Given the description of an element on the screen output the (x, y) to click on. 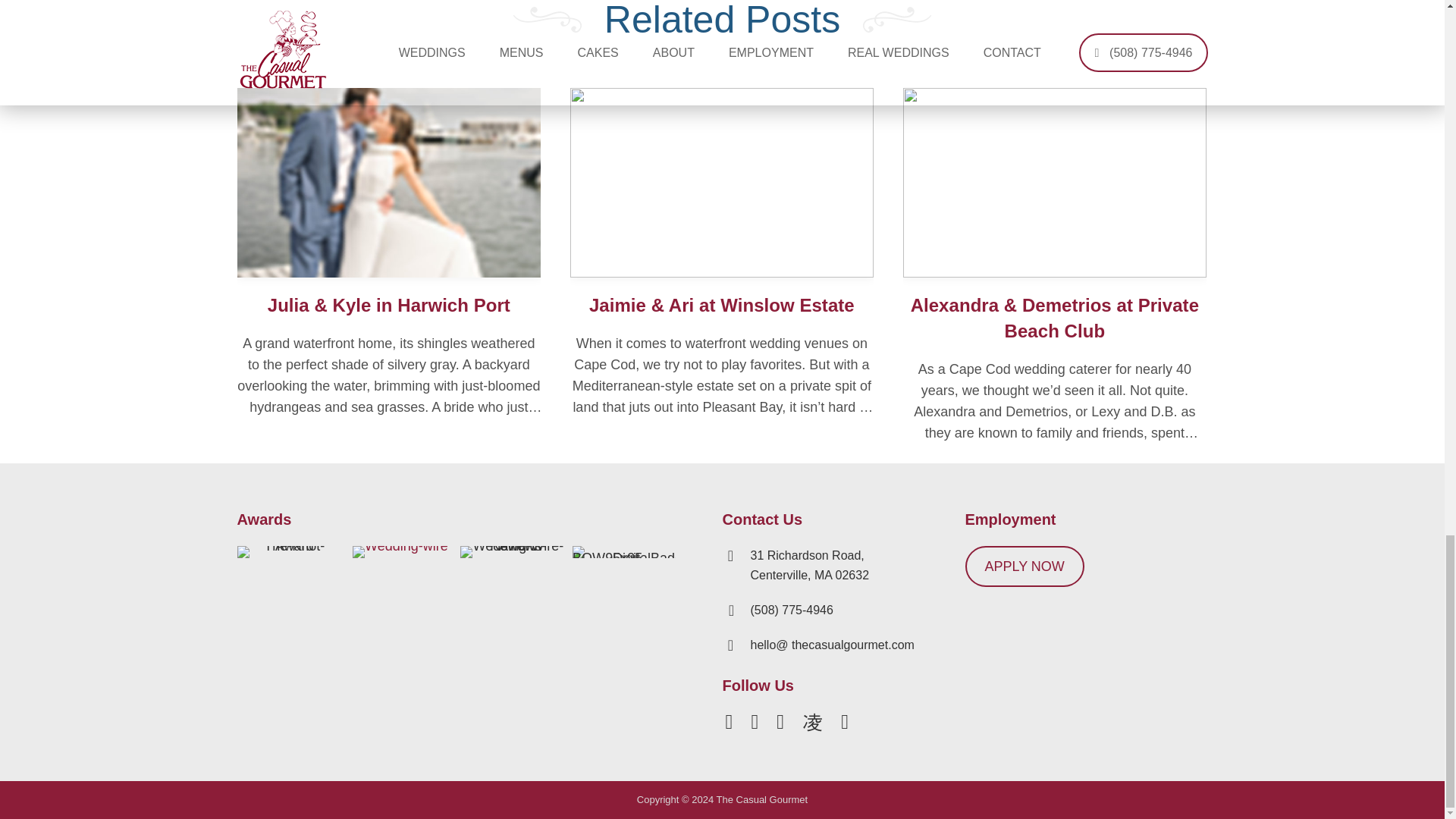
Wedding-Wire-Reviews-Award (511, 551)
The-Knot-Award (287, 551)
Wedding-wire (400, 551)
